Given the description of an element on the screen output the (x, y) to click on. 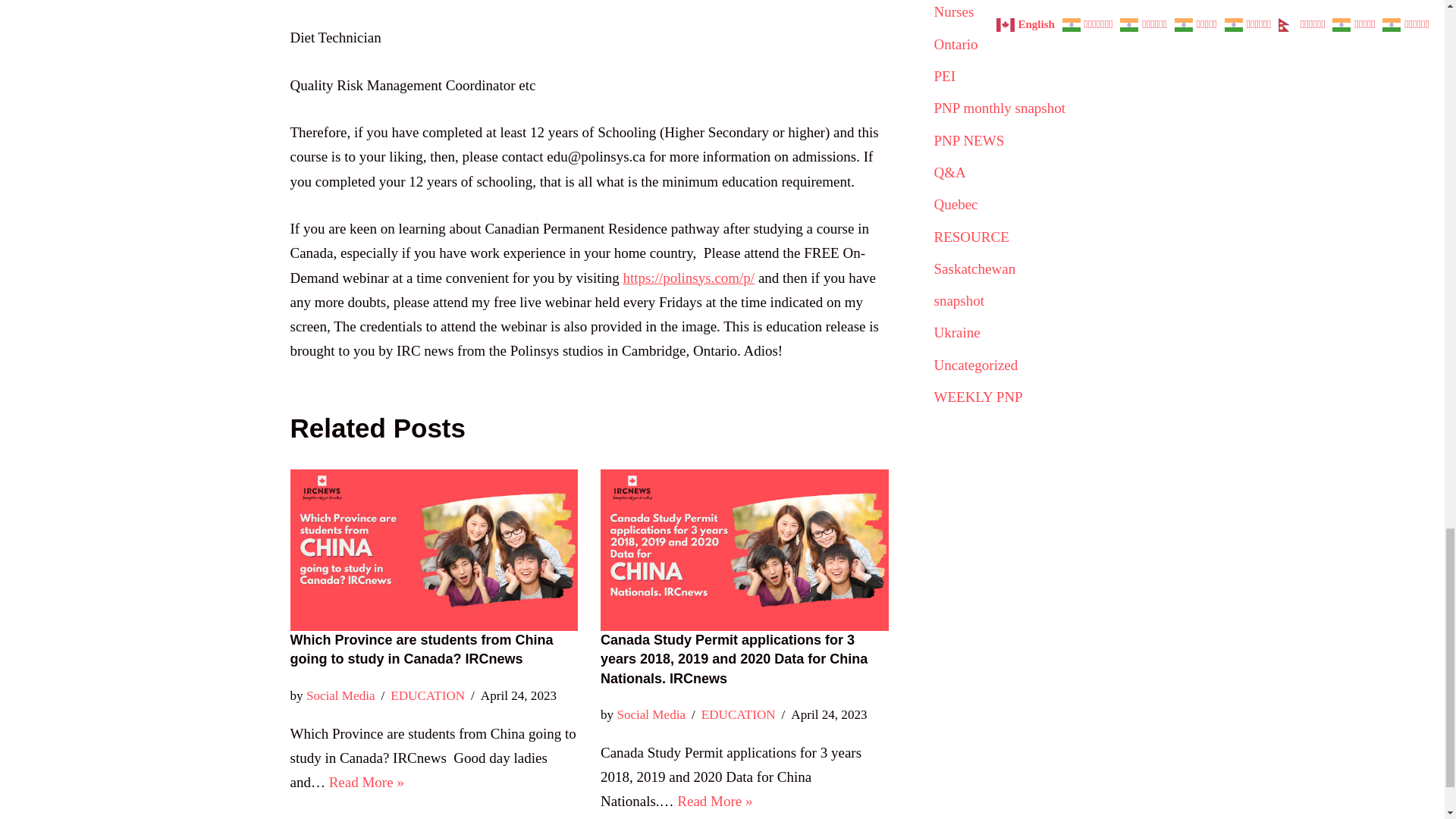
Posts by Social Media (650, 714)
Posts by Social Media (340, 695)
